Given the description of an element on the screen output the (x, y) to click on. 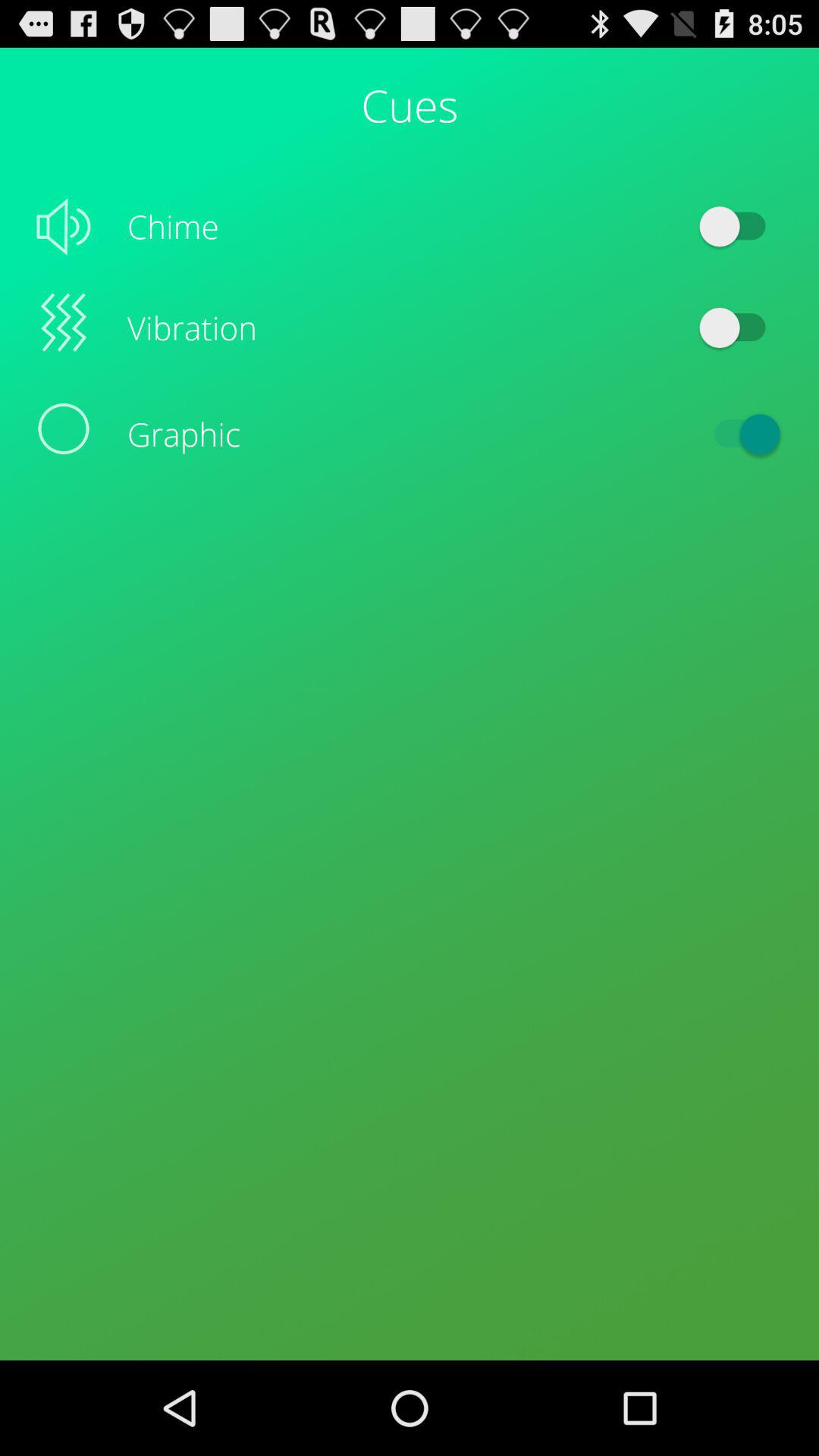
choose the icon next to the chime item (739, 226)
